Given the description of an element on the screen output the (x, y) to click on. 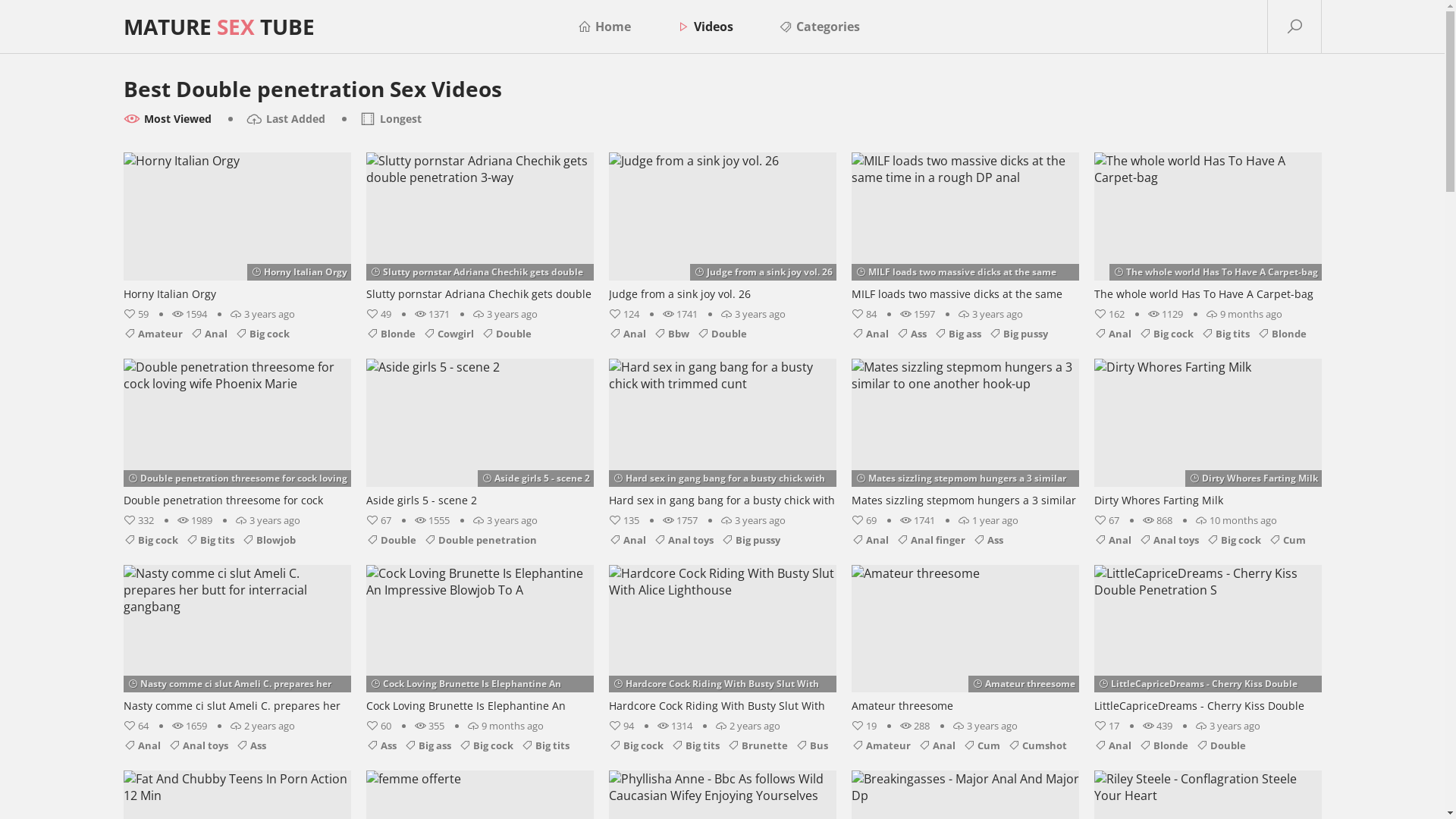
Double Element type: text (505, 333)
Big pussy Element type: text (749, 539)
Big tits Element type: text (544, 745)
Cumshot Element type: text (1036, 745)
Home Element type: text (603, 26)
MATURE SEX TUBE Element type: text (217, 26)
Anal Element type: text (1111, 333)
Big cock Element type: text (149, 539)
Amateur threesome Element type: text (964, 639)
Ass Element type: text (380, 745)
Blonde Element type: text (389, 333)
Horny Italian Orgy Element type: text (236, 228)
Longest Element type: text (390, 118)
Big tits Element type: text (1225, 333)
Judge from a sink joy vol. 26 Element type: text (721, 228)
Anal Element type: text (141, 745)
Big tits Element type: text (209, 539)
Amateur Element type: text (880, 745)
Anal Element type: text (207, 333)
Videos Element type: text (704, 26)
Most Viewed Element type: text (166, 118)
Ass Element type: text (250, 745)
Anal toys Element type: text (198, 745)
Blowjob Element type: text (267, 539)
Last Added Element type: text (285, 118)
Ass Element type: text (911, 333)
Big pussy Element type: text (1018, 333)
Blonde Element type: text (1281, 333)
Big cock Element type: text (635, 745)
Double Element type: text (1220, 745)
Cum Element type: text (1286, 539)
Big cock Element type: text (485, 745)
LittleCapriceDreams - Cherry Kiss Double Penetration S Element type: text (1207, 639)
The whole world Has To Have A Carpet-bag Element type: text (1207, 228)
Cum Element type: text (981, 745)
Double penetration Element type: text (479, 539)
Big cock Element type: text (262, 333)
Bus Element type: text (810, 745)
Anal Element type: text (626, 539)
Anal Element type: text (869, 539)
Anal toys Element type: text (1168, 539)
Cowgirl Element type: text (448, 333)
Hard sex in gang bang for a busty chick with trimmed cunt Element type: text (721, 434)
Anal Element type: text (869, 333)
Anal Element type: text (626, 333)
Anal Element type: text (935, 745)
Anal Element type: text (1111, 745)
Bbw Element type: text (671, 333)
Big cock Element type: text (1166, 333)
Hardcore Cock Riding With Busty Slut With Alice Lighthouse Element type: text (721, 639)
Anal finger Element type: text (930, 539)
Amateur Element type: text (152, 333)
Dirty Whores Farting Milk Element type: text (1207, 434)
Brunette Element type: text (756, 745)
Big tits Element type: text (694, 745)
Ass Element type: text (987, 539)
Big cock Element type: text (1232, 539)
Double Element type: text (390, 539)
Categories Element type: text (818, 26)
Big ass Element type: text (957, 333)
Blonde Element type: text (1163, 745)
Anal Element type: text (1111, 539)
Anal toys Element type: text (683, 539)
Aside girls 5 - scene 2 Element type: text (479, 434)
Big ass Element type: text (426, 745)
Double Element type: text (721, 333)
